Given the description of an element on the screen output the (x, y) to click on. 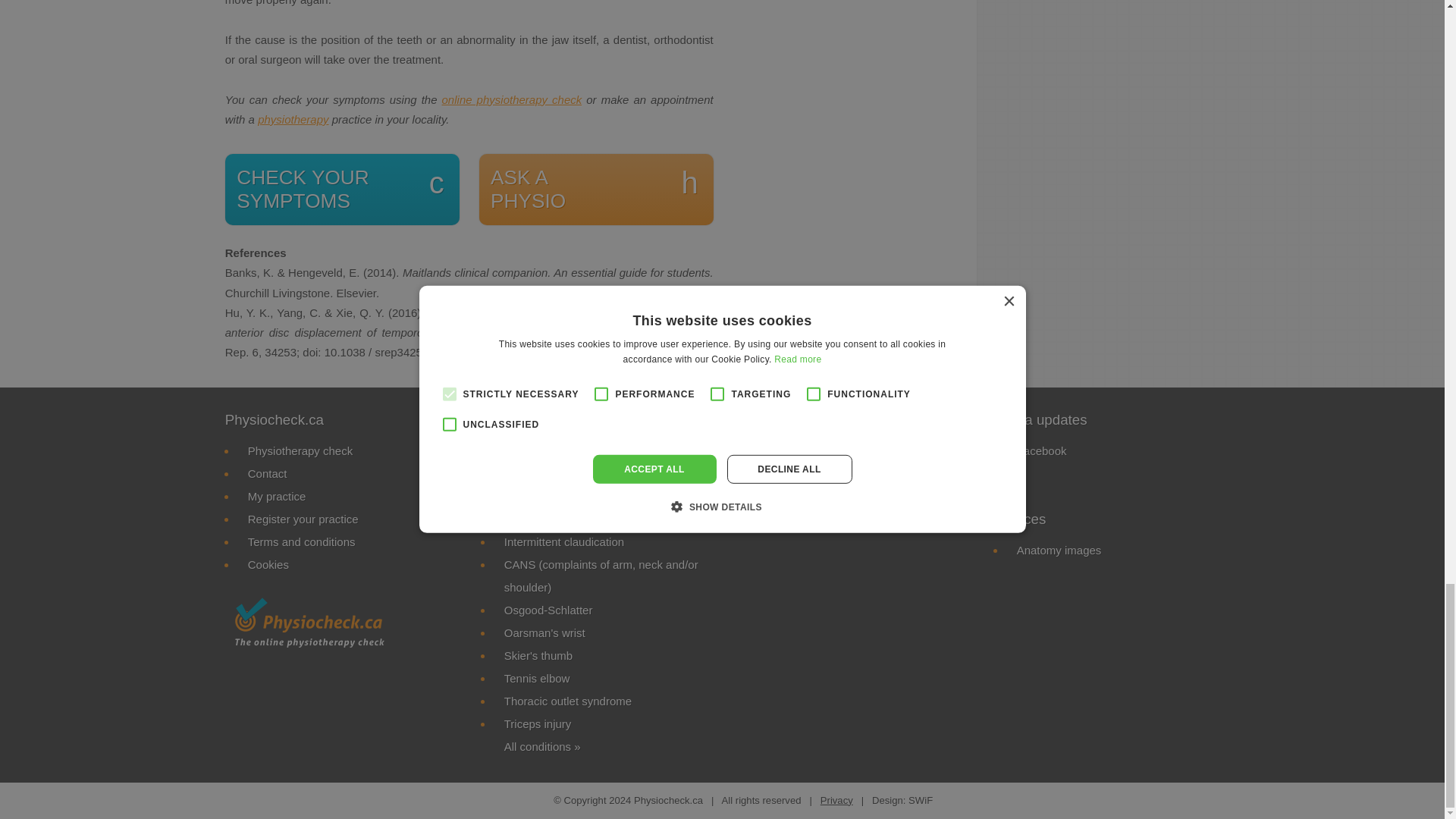
Register your practice (342, 189)
Medial knee ligament injury (302, 518)
Anterior ankle impingement (572, 472)
Physiotherapy check (573, 450)
Cookies (299, 450)
My practice (267, 563)
online physiotherapy check (276, 495)
Terms and conditions (512, 99)
physiotherapy (301, 541)
Contact (293, 119)
Lateral ankle ligament injury (596, 189)
